Given the description of an element on the screen output the (x, y) to click on. 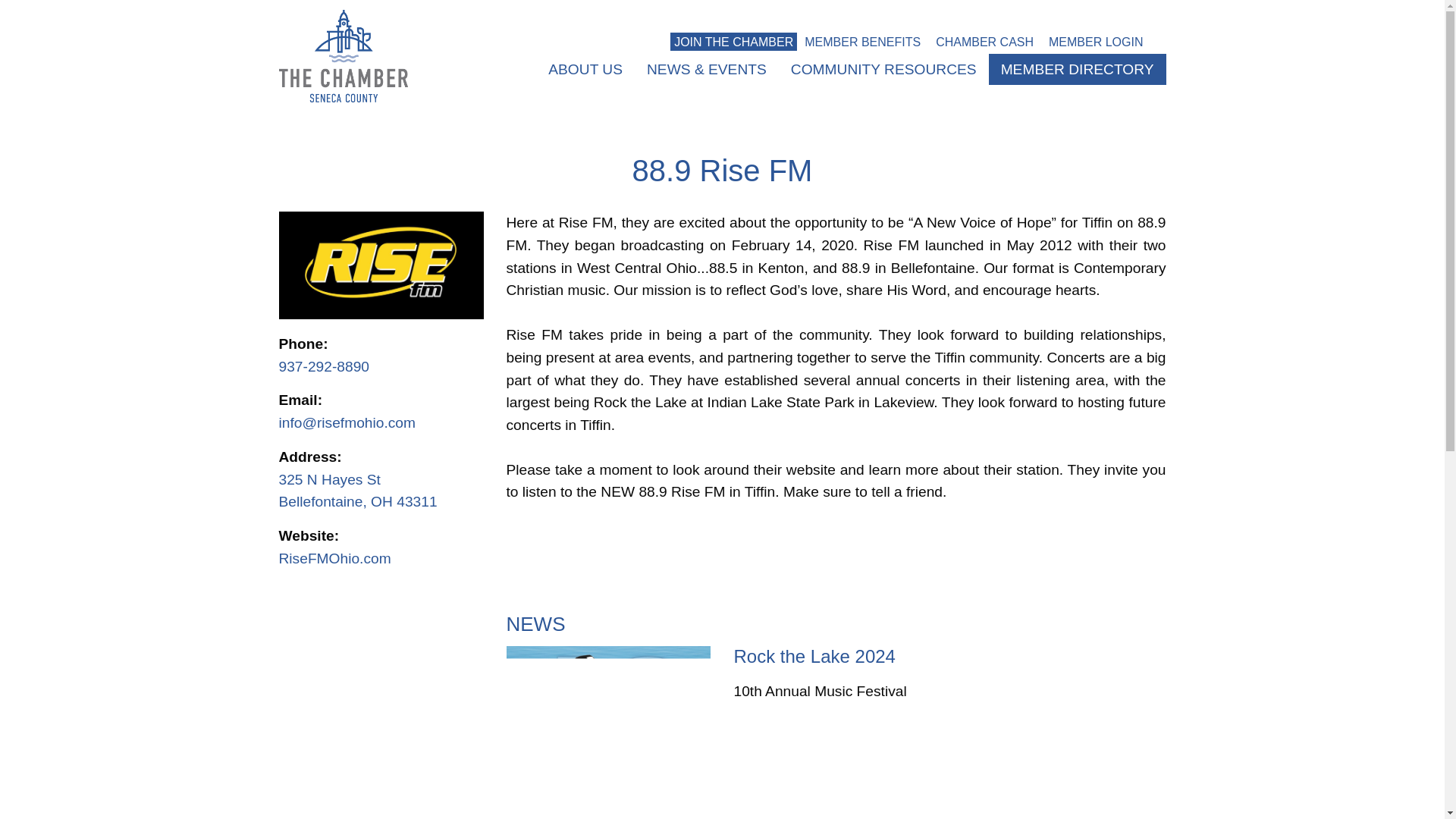
MEMBER BENEFITS (862, 41)
JOIN THE CHAMBER (732, 41)
CHAMBER CASH (984, 41)
ABOUT US (584, 69)
MEMBER LOGIN (1095, 41)
